Given the description of an element on the screen output the (x, y) to click on. 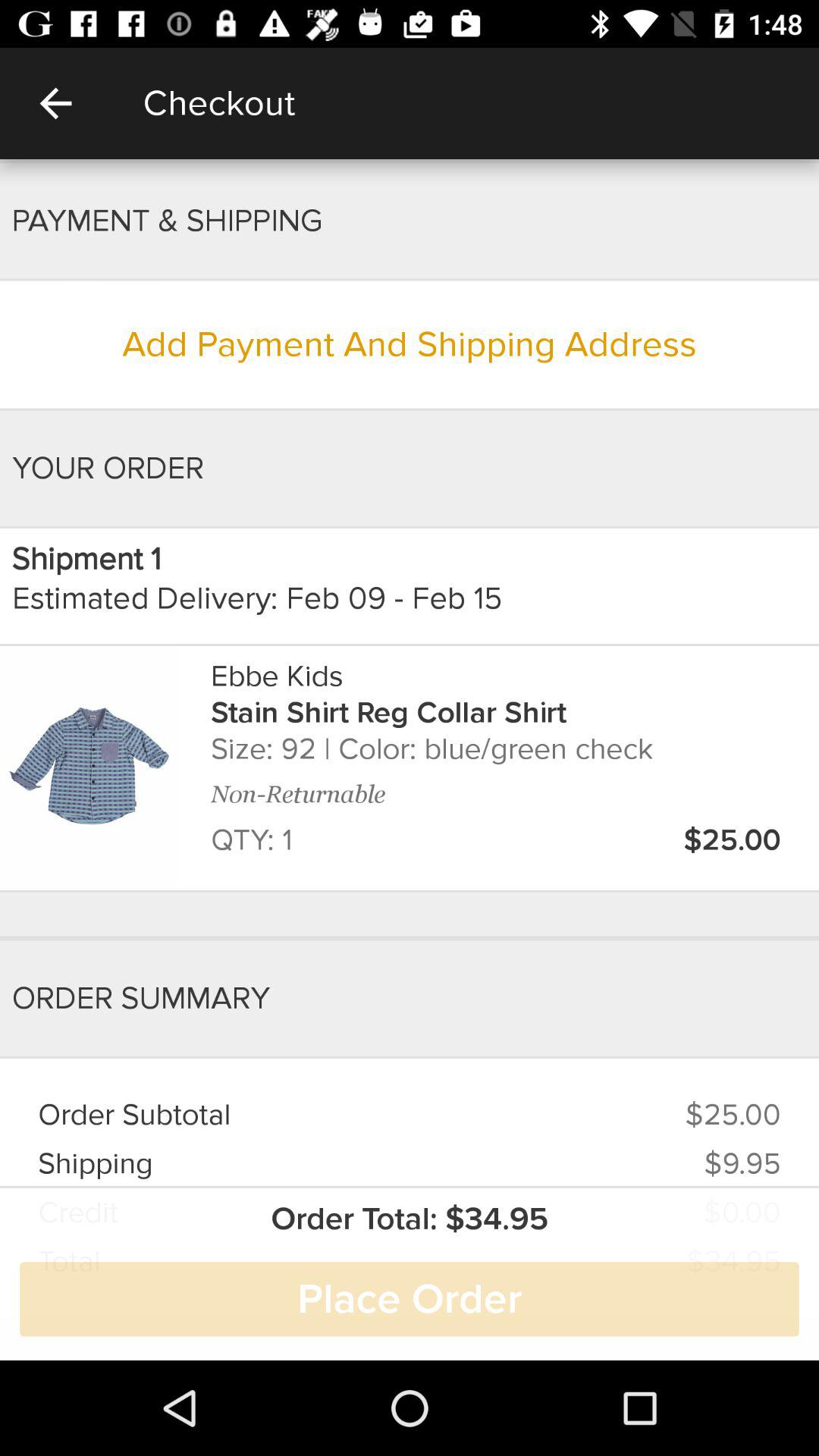
select add payment and item (409, 344)
